Given the description of an element on the screen output the (x, y) to click on. 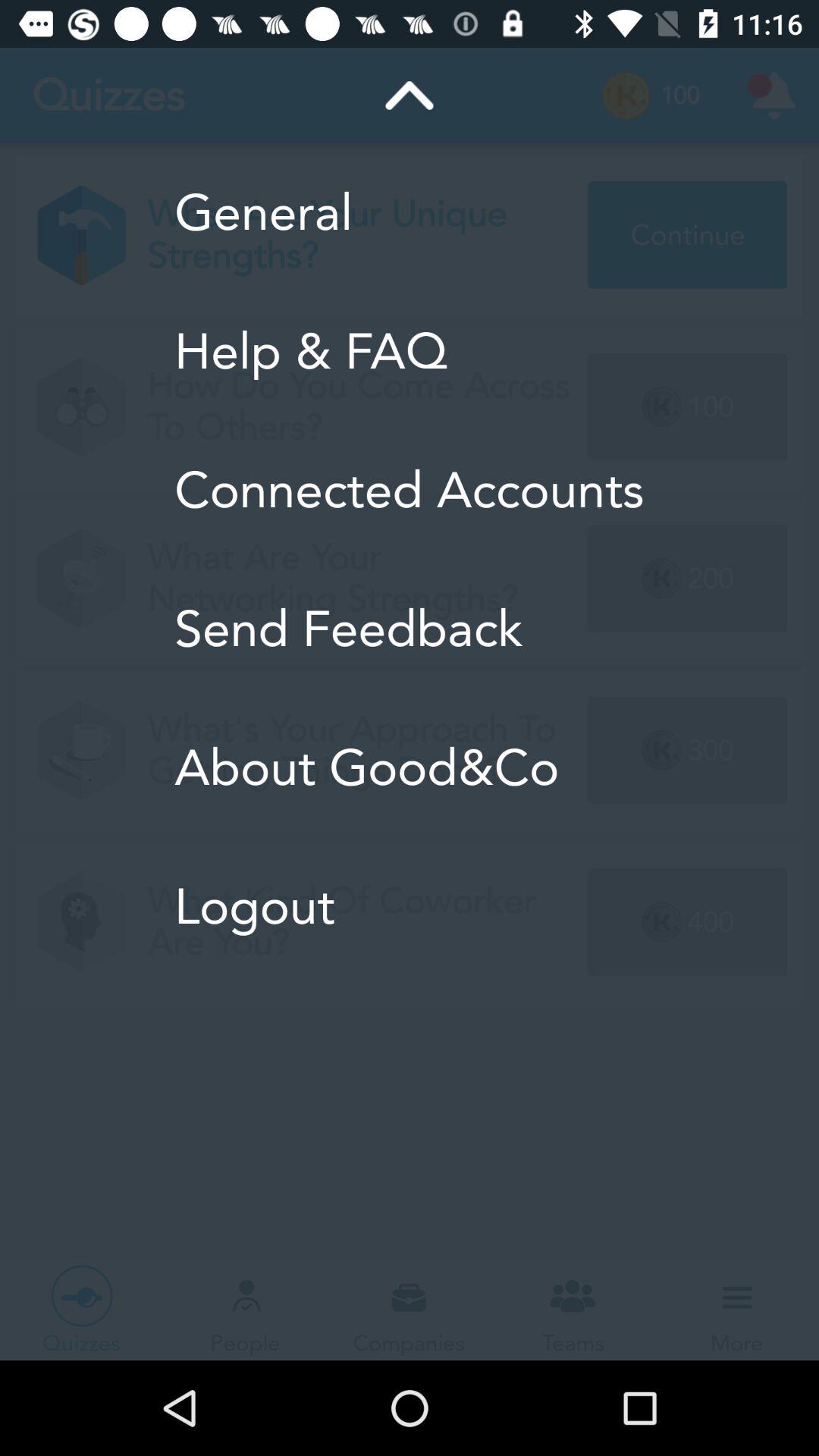
choose the help & faq item (408, 351)
